Given the description of an element on the screen output the (x, y) to click on. 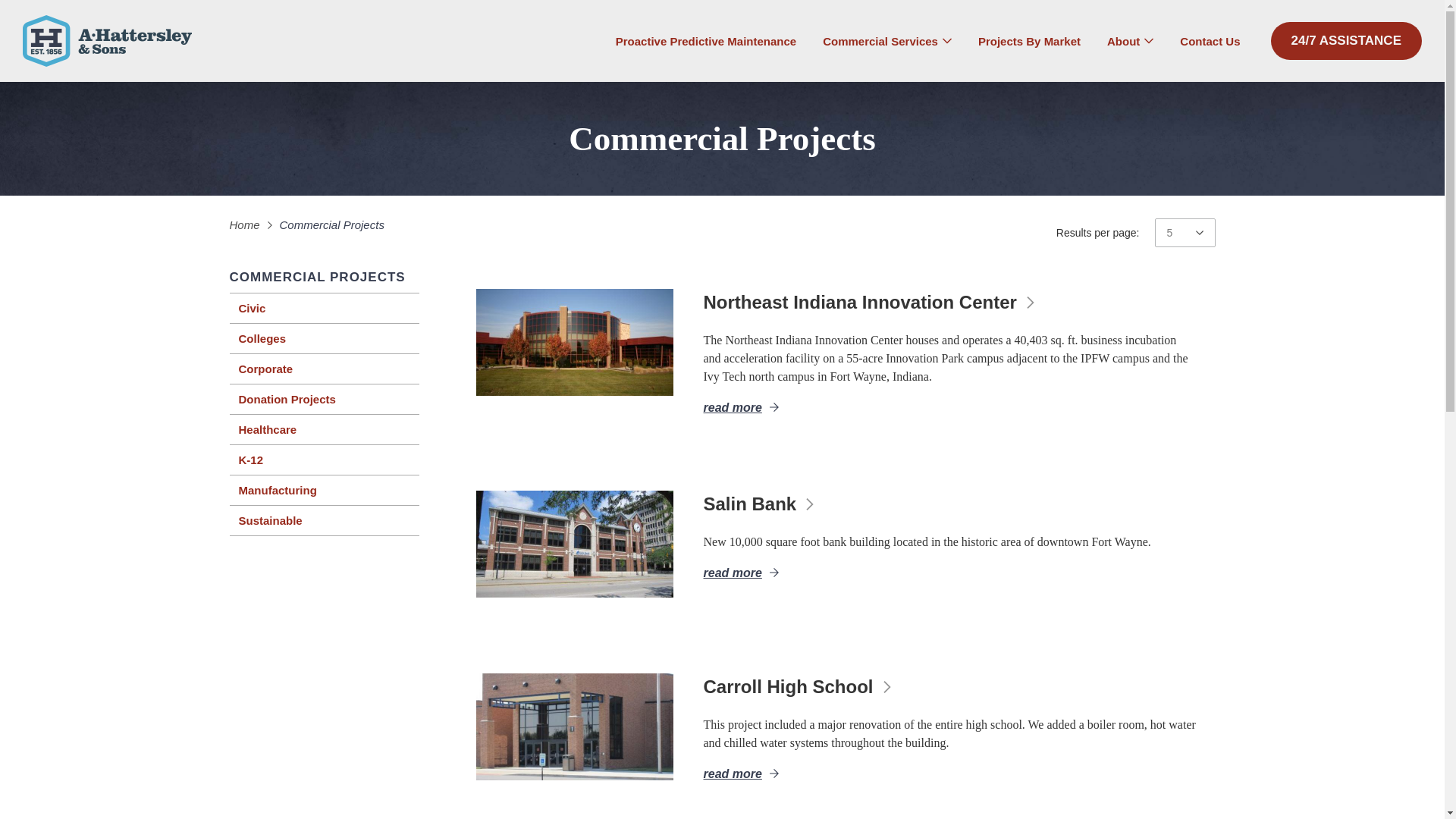
Proactive Predictive Maintenance (705, 40)
About (1129, 40)
Carroll High School (574, 726)
Projects By Market (1029, 40)
Healthcare (323, 429)
Colleges (323, 337)
Donation Projects (323, 399)
Corporate (323, 368)
Commercial Services (887, 40)
Civic (323, 307)
